Given the description of an element on the screen output the (x, y) to click on. 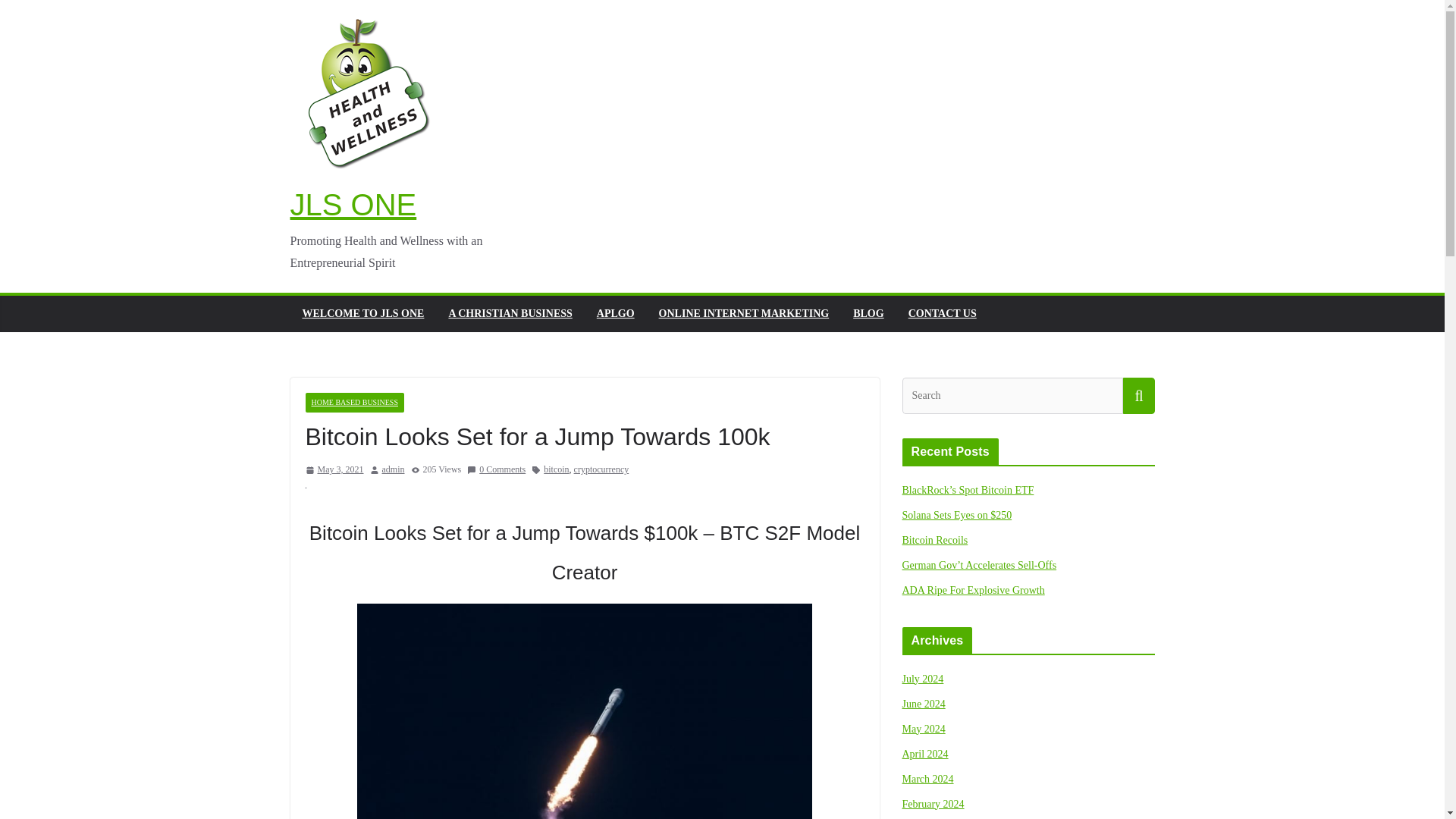
0 Comments (496, 469)
admin (392, 469)
cryptocurrency (600, 469)
JLS ONE (352, 204)
CONTACT US (942, 313)
JLS ONE (352, 204)
2:07 am (333, 469)
ADA Ripe For Explosive Growth (973, 590)
Bitcoin Recoils (935, 540)
A CHRISTIAN BUSINESS (510, 313)
